Given the description of an element on the screen output the (x, y) to click on. 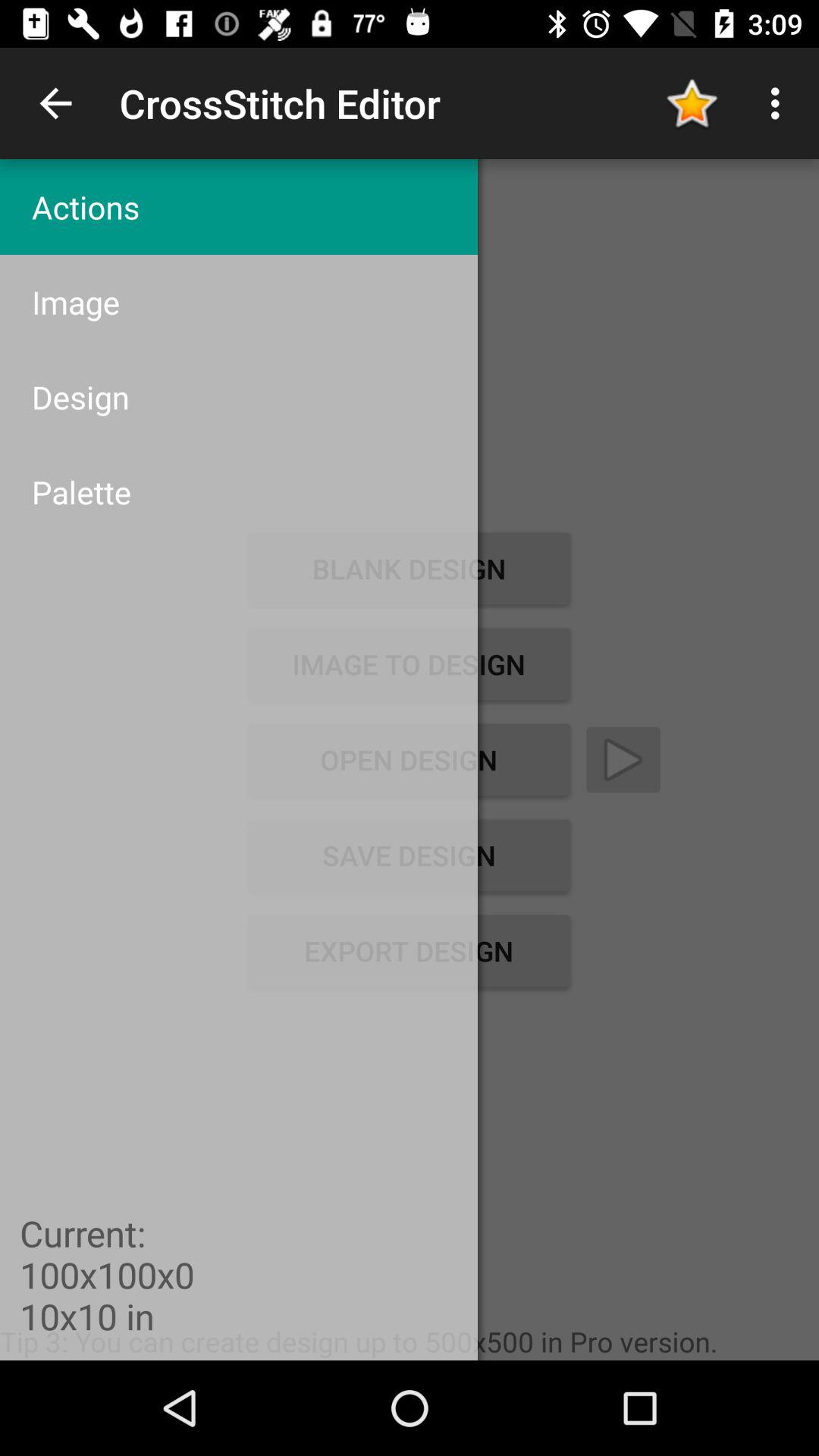
flip to the save design item (409, 855)
